Given the description of an element on the screen output the (x, y) to click on. 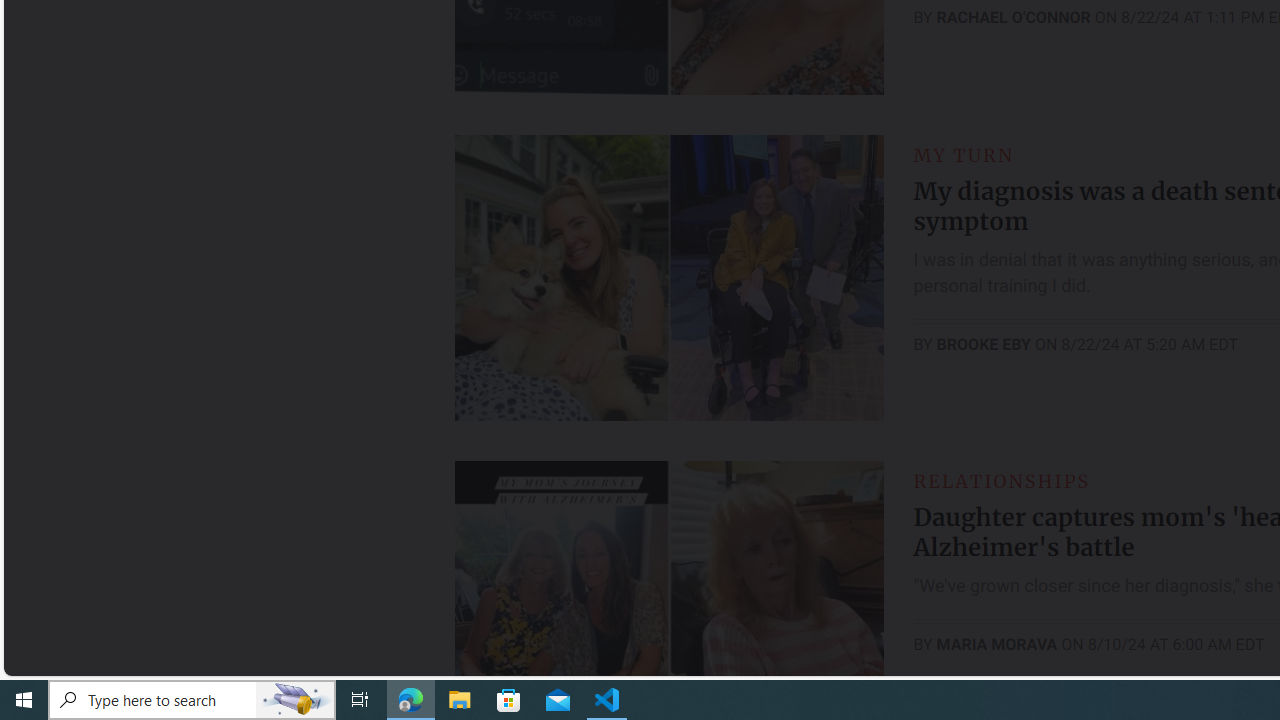
RELATIONSHIPS (1001, 480)
MY TURN (963, 155)
